Given the description of an element on the screen output the (x, y) to click on. 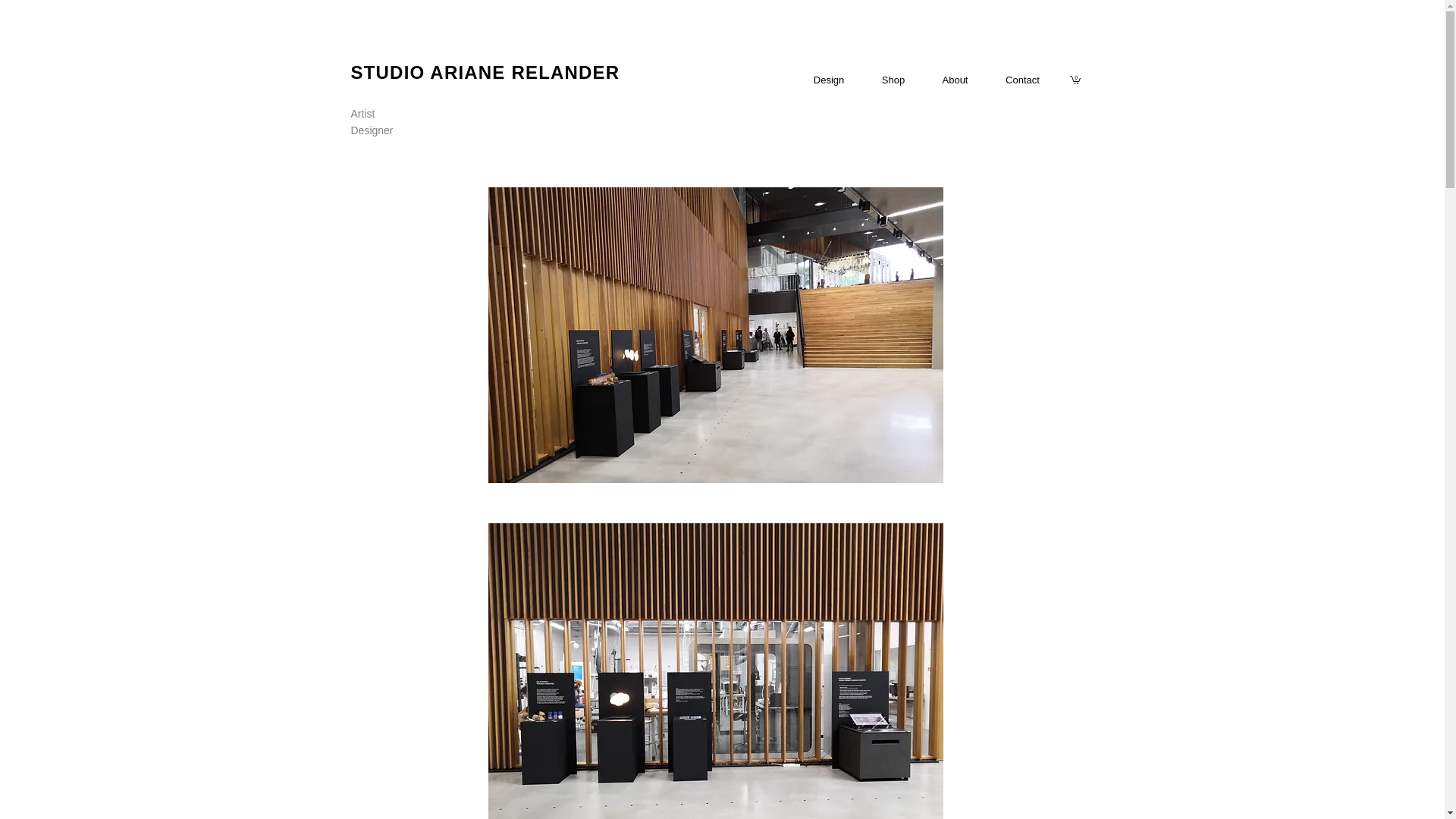
About (955, 80)
0 (1074, 79)
0 (1074, 79)
STUDIO ARIANE RELANDER (485, 72)
Design (828, 80)
Shop (893, 80)
Contact (1022, 80)
